Given the description of an element on the screen output the (x, y) to click on. 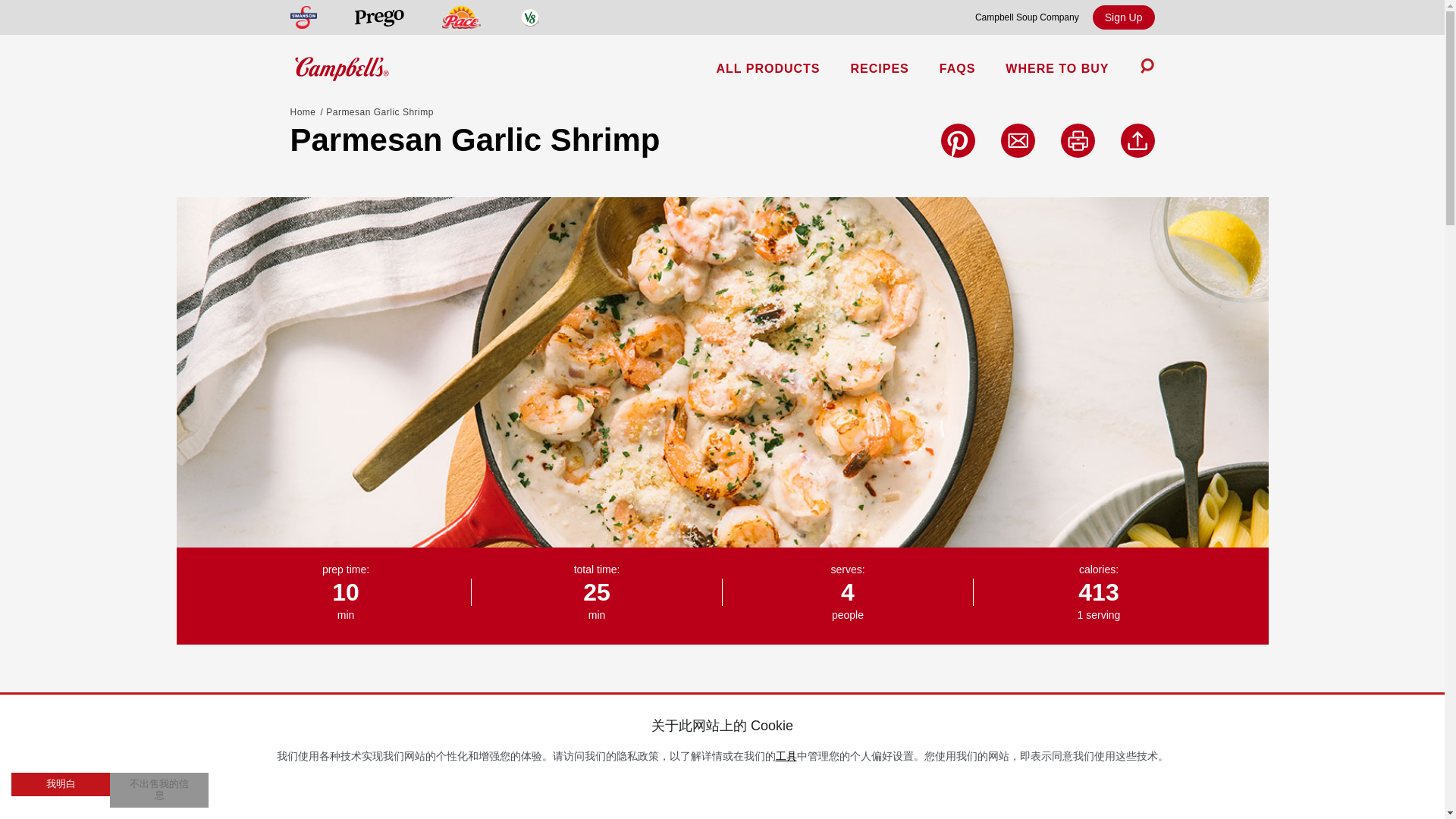
ALL PRODUCTS (767, 69)
Pinterest (957, 140)
Campbell Soup Company (1026, 17)
Sign Up (1123, 16)
Email (1018, 140)
Print (1076, 140)
